Given the description of an element on the screen output the (x, y) to click on. 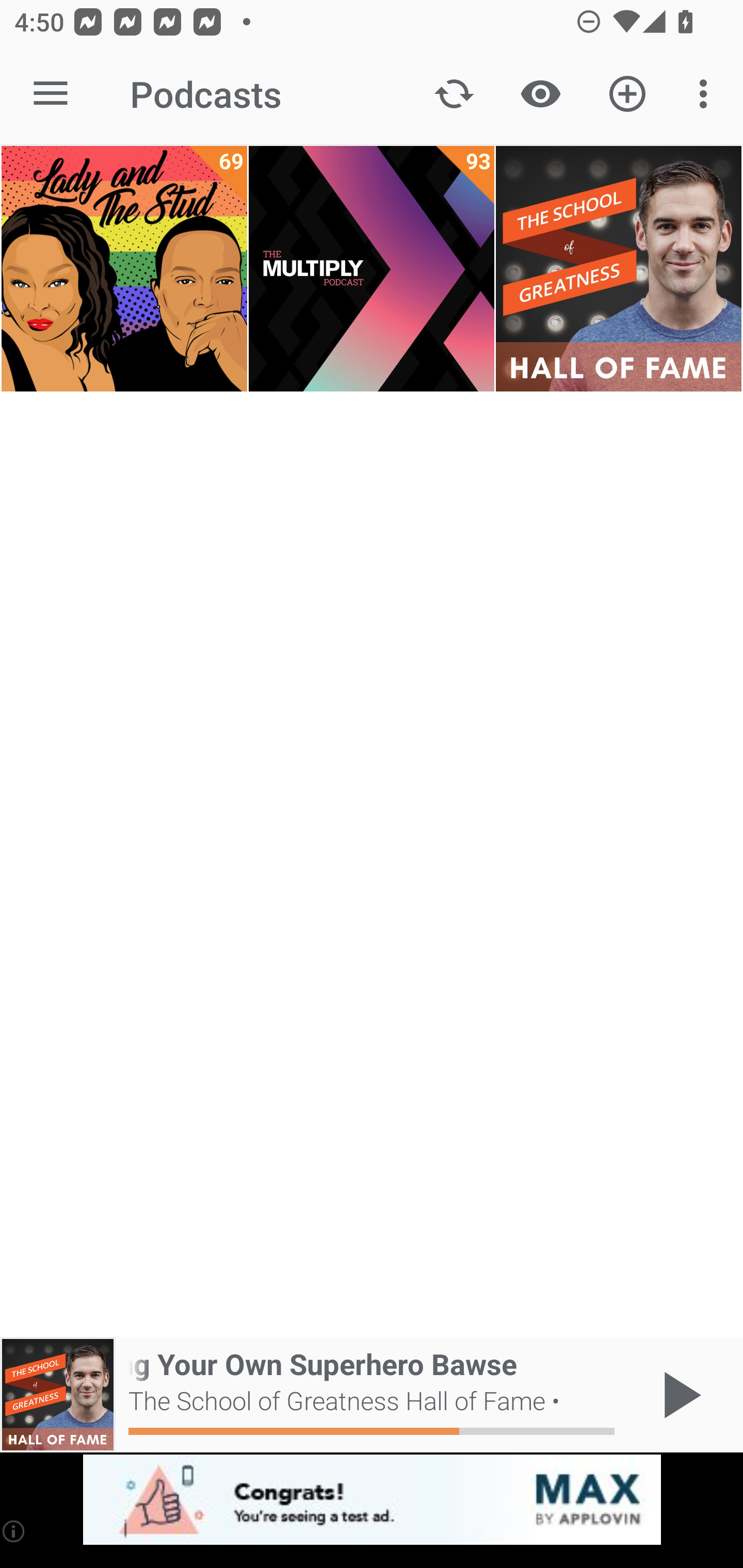
Open navigation sidebar (50, 93)
Update (453, 93)
Show / Hide played content (540, 93)
Add new Podcast (626, 93)
More options (706, 93)
Lady and The Stud 69 (124, 268)
The Multiply Podcast 93 (371, 268)
The School of Greatness Hall of Fame (618, 268)
Play / Pause (677, 1394)
app-monetization (371, 1500)
(i) (14, 1531)
